Given the description of an element on the screen output the (x, y) to click on. 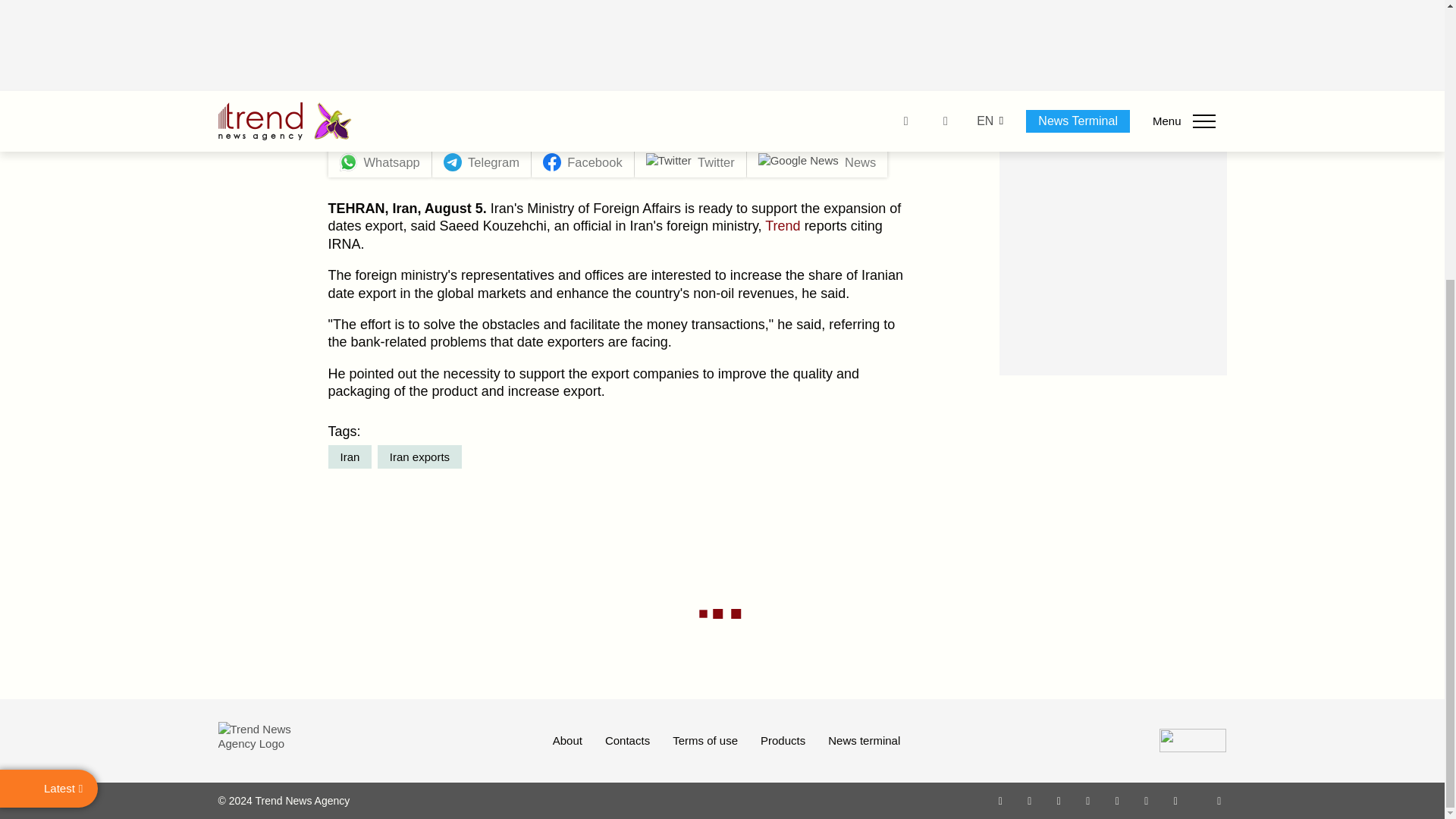
LinkedIn (1146, 800)
Facebook (1029, 800)
Twitter (1059, 800)
RSS Feed (1219, 800)
Youtube (1088, 800)
Telegram (1117, 800)
Whatsapp (1000, 800)
Android App (1176, 800)
